Given the description of an element on the screen output the (x, y) to click on. 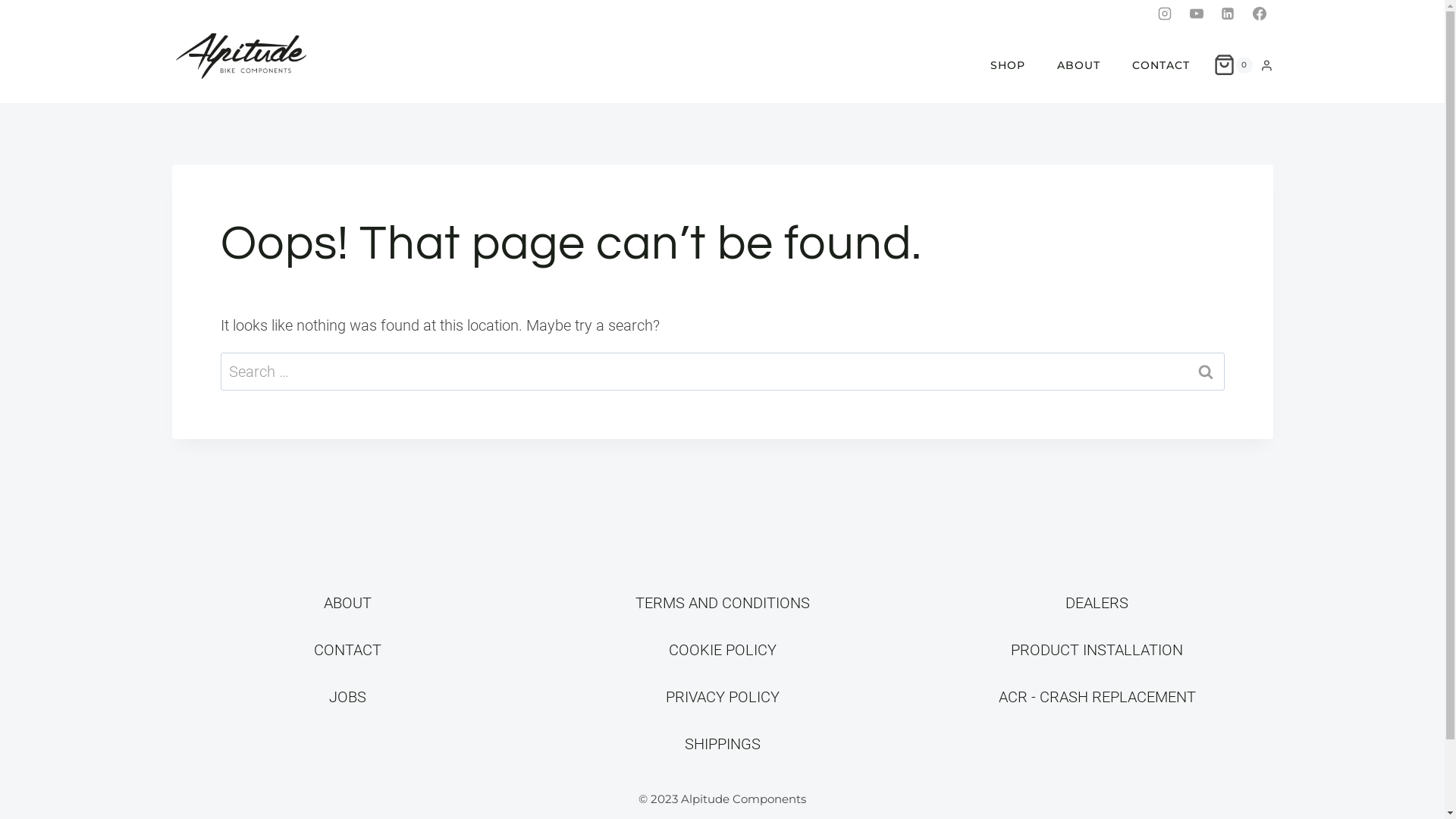
ABOUT Element type: text (1078, 65)
COOKIE POLICY Element type: text (722, 649)
CONTACT Element type: text (1160, 65)
0 Element type: text (1232, 64)
JOBS Element type: text (347, 696)
Search Element type: text (1204, 371)
ABOUT Element type: text (347, 602)
SHOP Element type: text (1007, 65)
PRODUCT INSTALLATION Element type: text (1096, 649)
SHIPPINGS Element type: text (721, 743)
PRIVACY POLICY Element type: text (722, 696)
DEALERS Element type: text (1096, 602)
ACR - CRASH REPLACEMENT Element type: text (1096, 696)
TERMS AND CONDITIONS Element type: text (722, 602)
CONTACT Element type: text (347, 649)
